Given the description of an element on the screen output the (x, y) to click on. 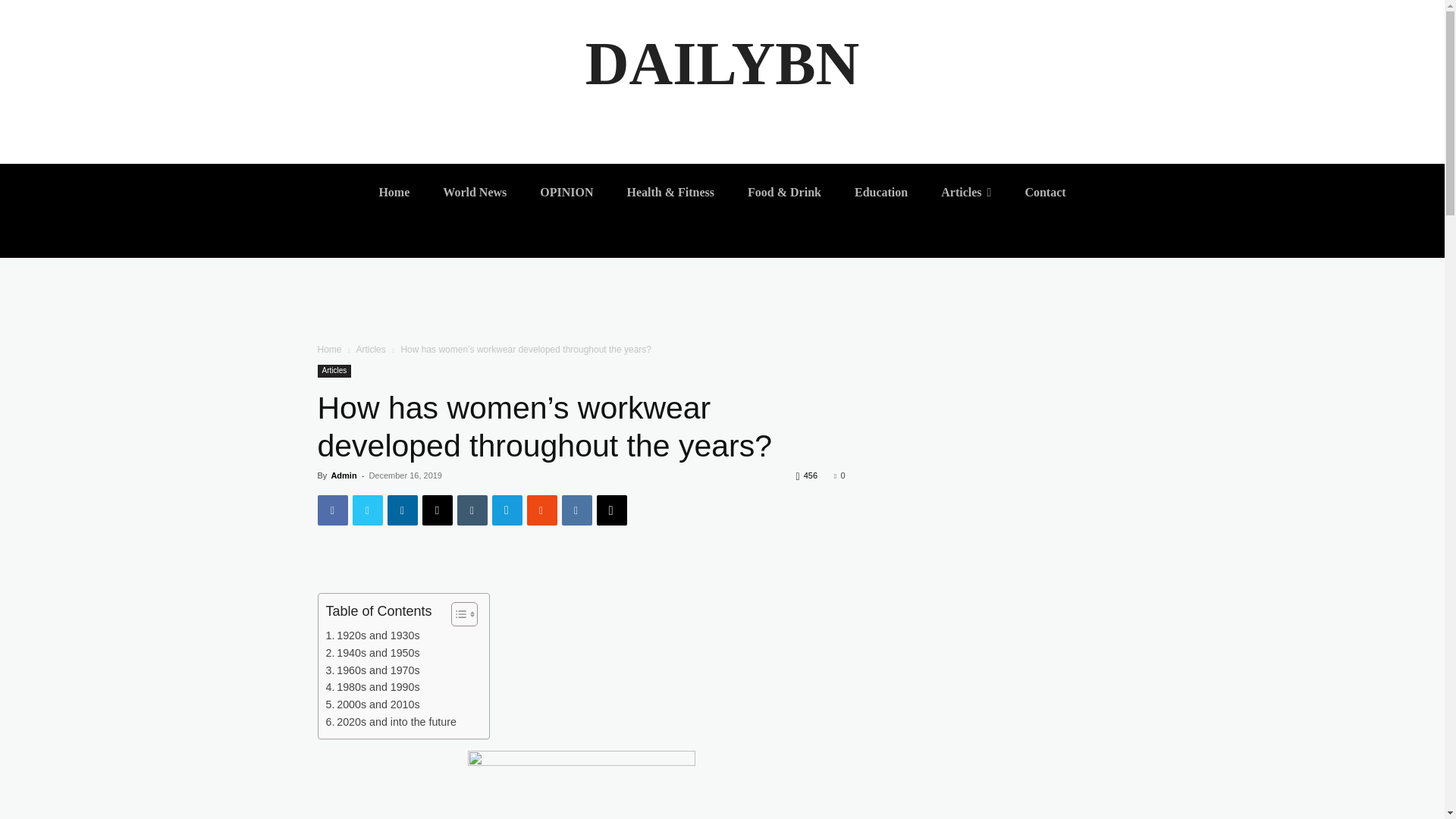
Telegram (506, 510)
Articles (370, 348)
Linkedin (401, 510)
Education (881, 192)
Home (394, 192)
World News (474, 192)
Articles (965, 192)
Mix (540, 510)
Facebook (332, 510)
Twitter (366, 510)
Email (436, 510)
Articles (333, 370)
OPINION (566, 192)
